Given the description of an element on the screen output the (x, y) to click on. 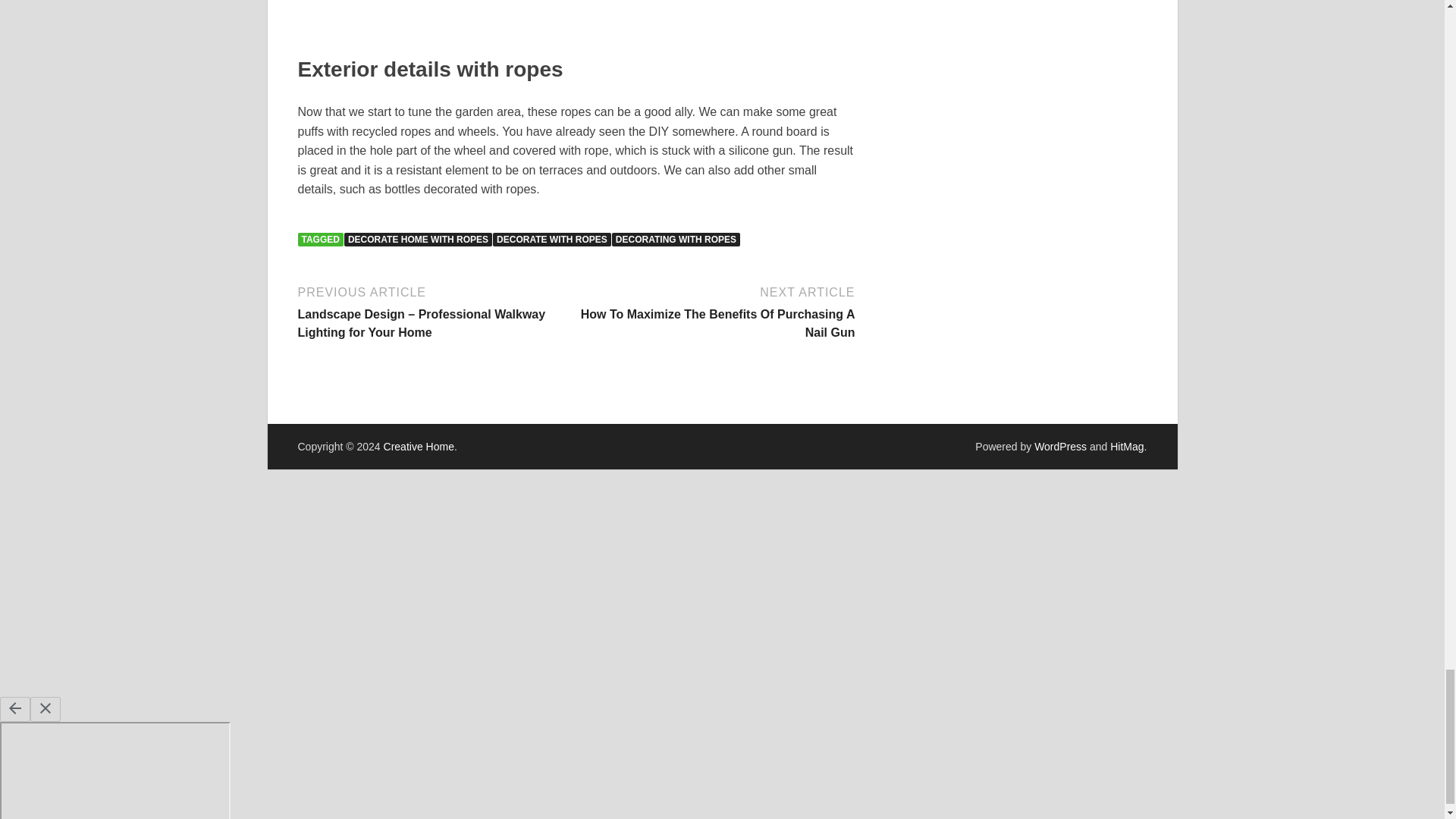
DECORATE HOME WITH ROPES (417, 239)
HitMag WordPress Theme (1125, 446)
WordPress (1059, 446)
DECORATE WITH ROPES (552, 239)
DECORATING WITH ROPES (675, 239)
Creative Home (419, 446)
